Given the description of an element on the screen output the (x, y) to click on. 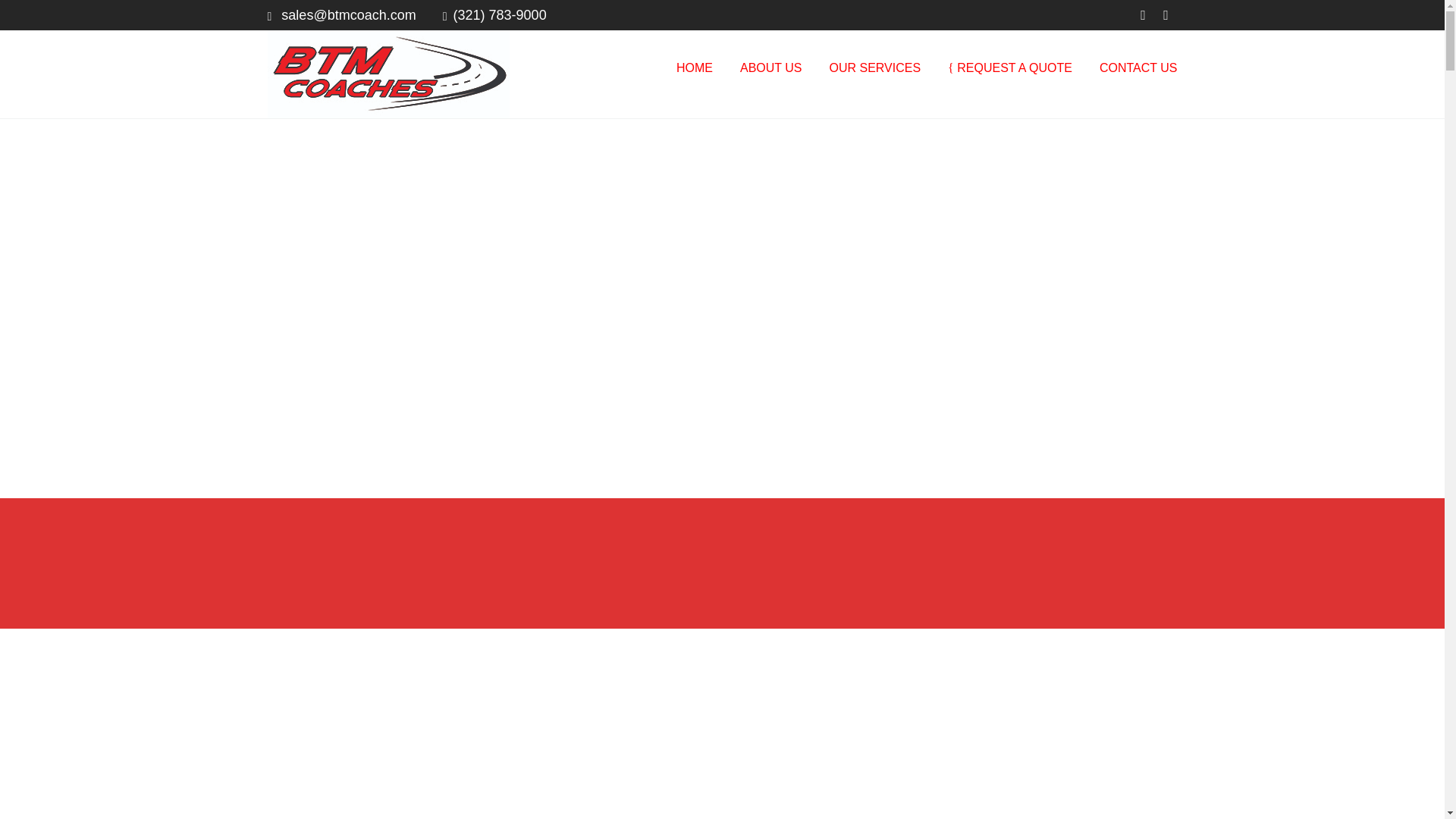
CONTACT US (1131, 68)
REQUEST A QUOTE (1010, 68)
OUR SERVICES (874, 68)
ABOUT US (770, 68)
